Given the description of an element on the screen output the (x, y) to click on. 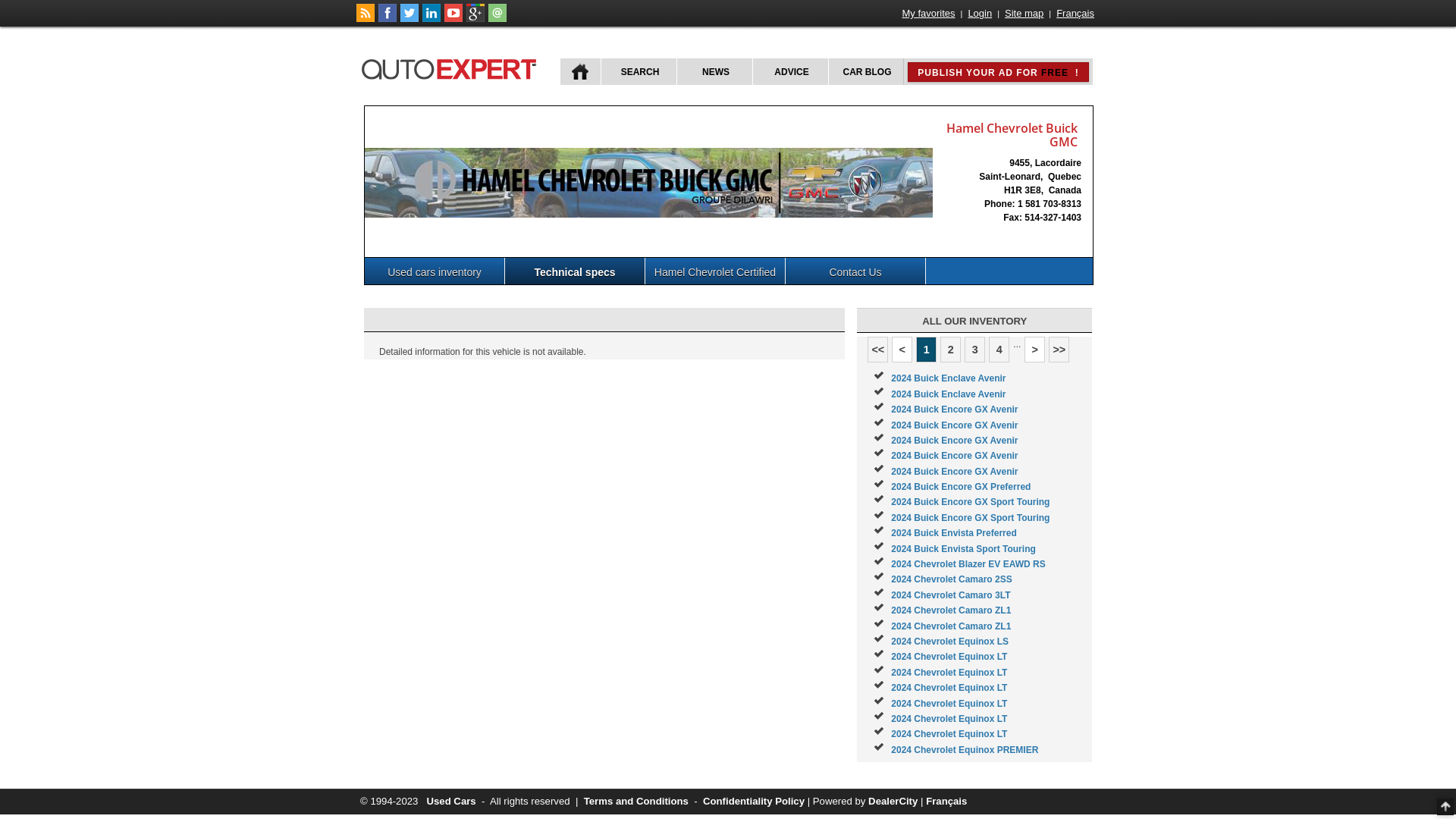
2024 Buick Encore GX Avenir Element type: text (954, 440)
2 Element type: text (950, 349)
2024 Buick Encore GX Sport Touring Element type: text (970, 517)
DealerCity Element type: text (892, 800)
2024 Chevrolet Camaro 3LT Element type: text (950, 594)
Contact autoExpert.ca Element type: hover (497, 18)
2024 Chevrolet Equinox LT Element type: text (949, 703)
> Element type: text (1034, 349)
< Element type: text (901, 349)
4 Element type: text (998, 349)
2024 Buick Envista Preferred Element type: text (953, 532)
Confidentiality Policy Element type: text (753, 800)
2024 Chevrolet Equinox LT Element type: text (949, 733)
ADVICE Element type: text (790, 71)
2024 Buick Encore GX Sport Touring Element type: text (970, 501)
Follow autoExpert.ca on Facebook Element type: hover (387, 18)
HOME Element type: text (580, 71)
autoExpert.ca Element type: text (451, 66)
CAR BLOG Element type: text (865, 71)
<< Element type: text (877, 349)
SEARCH Element type: text (638, 71)
Login Element type: text (979, 13)
2024 Chevrolet Equinox LT Element type: text (949, 672)
2024 Chevrolet Equinox LT Element type: text (949, 656)
Follow Publications Le Guide Inc. on LinkedIn Element type: hover (431, 18)
Follow autoExpert.ca on Google Plus Element type: hover (475, 18)
NEWS Element type: text (714, 71)
Site map Element type: text (1023, 13)
2024 Chevrolet Equinox LS Element type: text (949, 641)
2024 Buick Envista Sport Touring Element type: text (963, 548)
2024 Chevrolet Equinox LT Element type: text (949, 687)
Terms and Conditions Element type: text (635, 800)
2024 Chevrolet Blazer EV EAWD RS Element type: text (967, 563)
2024 Buick Encore GX Avenir Element type: text (954, 455)
2024 Buick Encore GX Preferred Element type: text (960, 486)
2024 Buick Enclave Avenir Element type: text (948, 394)
2024 Chevrolet Camaro 2SS Element type: text (951, 579)
Technical specs Element type: text (575, 270)
Follow car news on autoExpert.ca Element type: hover (365, 18)
Follow autoExpert.ca on Twitter Element type: hover (409, 18)
Follow autoExpert.ca on Youtube Element type: hover (453, 18)
2024 Chevrolet Equinox PREMIER Element type: text (964, 749)
3 Element type: text (974, 349)
Hamel Chevrolet Certified Element type: text (715, 270)
Used cars inventory Element type: text (434, 270)
2024 Chevrolet Camaro ZL1 Element type: text (950, 626)
2024 Buick Encore GX Avenir Element type: text (954, 471)
2024 Chevrolet Camaro ZL1 Element type: text (950, 610)
My favorites Element type: text (928, 13)
2024 Buick Encore GX Avenir Element type: text (954, 425)
PUBLISH YOUR AD FOR FREE  ! Element type: text (997, 71)
2024 Buick Enclave Avenir Element type: text (948, 378)
Contact Us Element type: text (855, 270)
2024 Chevrolet Equinox LT Element type: text (949, 718)
Used Cars Element type: text (450, 800)
2024 Buick Encore GX Avenir Element type: text (954, 409)
>> Element type: text (1058, 349)
1 Element type: text (926, 349)
